Given the description of an element on the screen output the (x, y) to click on. 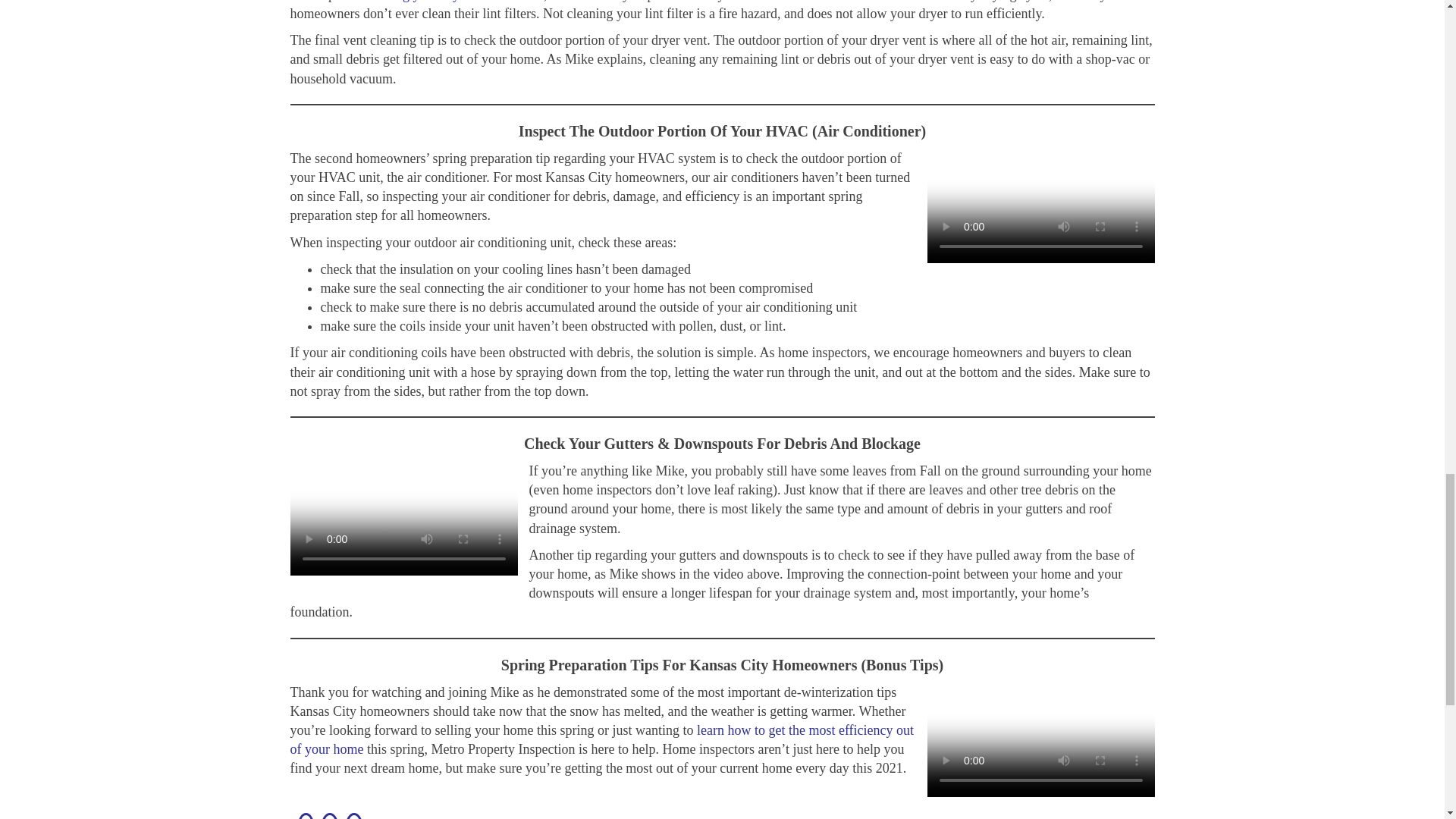
learn how to get the most efficiency out of your home (601, 739)
